Given the description of an element on the screen output the (x, y) to click on. 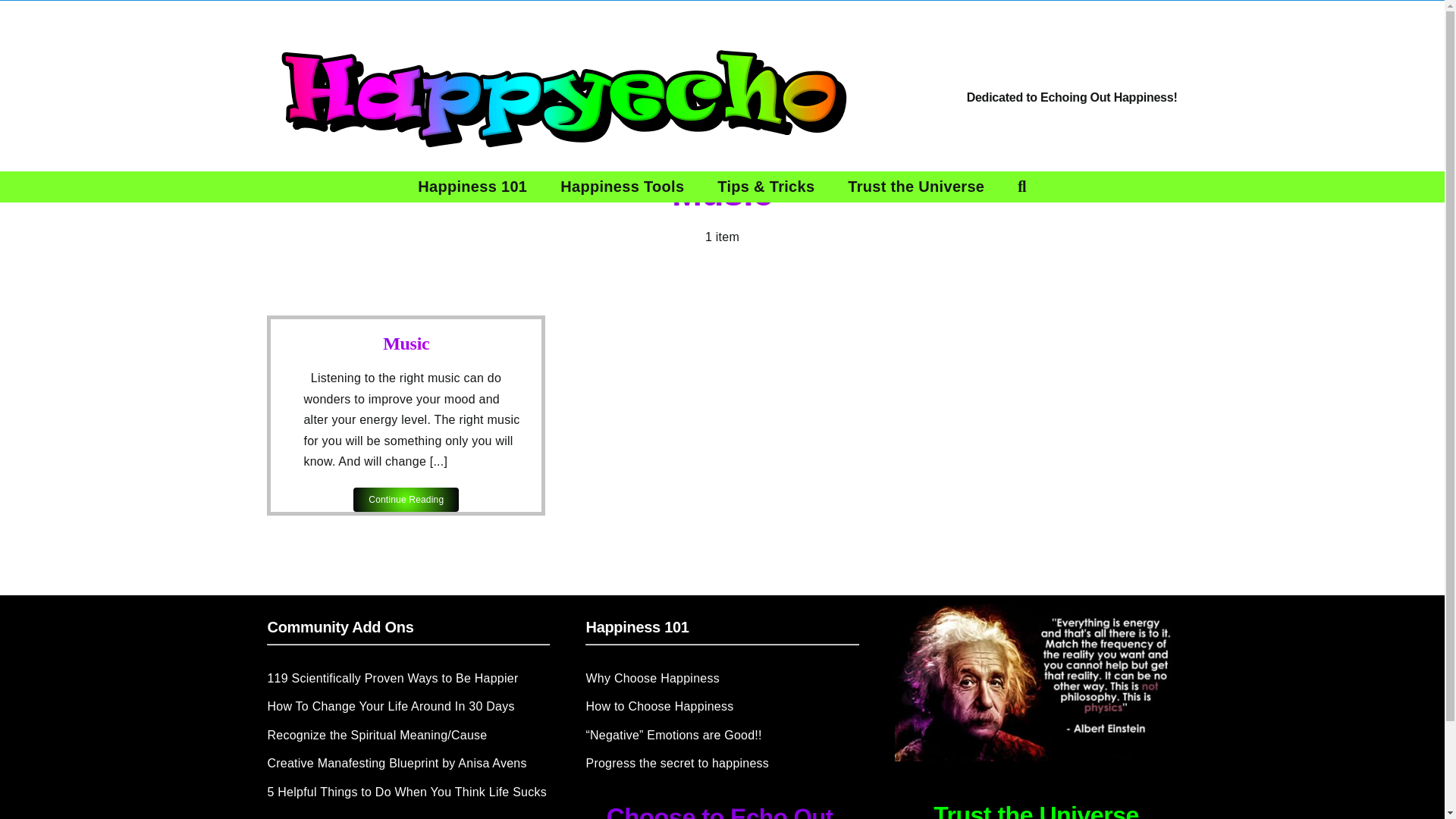
119 Scientifically Proven Ways to Be Happier (407, 679)
Creative Manafesting Blueprint by Anisa Avens (407, 763)
Happiness Tools (621, 186)
law-of-attraction (1035, 681)
Continue Reading (405, 499)
How To Change Your Life Around In 30 Days (407, 707)
Trust the Universe (1035, 809)
5 Helpful Things to Do When You Think Life Sucks (407, 793)
Music (405, 342)
Trust the Universe (916, 186)
Search (1021, 186)
Why Choose Happiness (722, 679)
Happiness 101 (472, 186)
How to Choose Happiness (722, 707)
Progress the secret to happiness (722, 763)
